Given the description of an element on the screen output the (x, y) to click on. 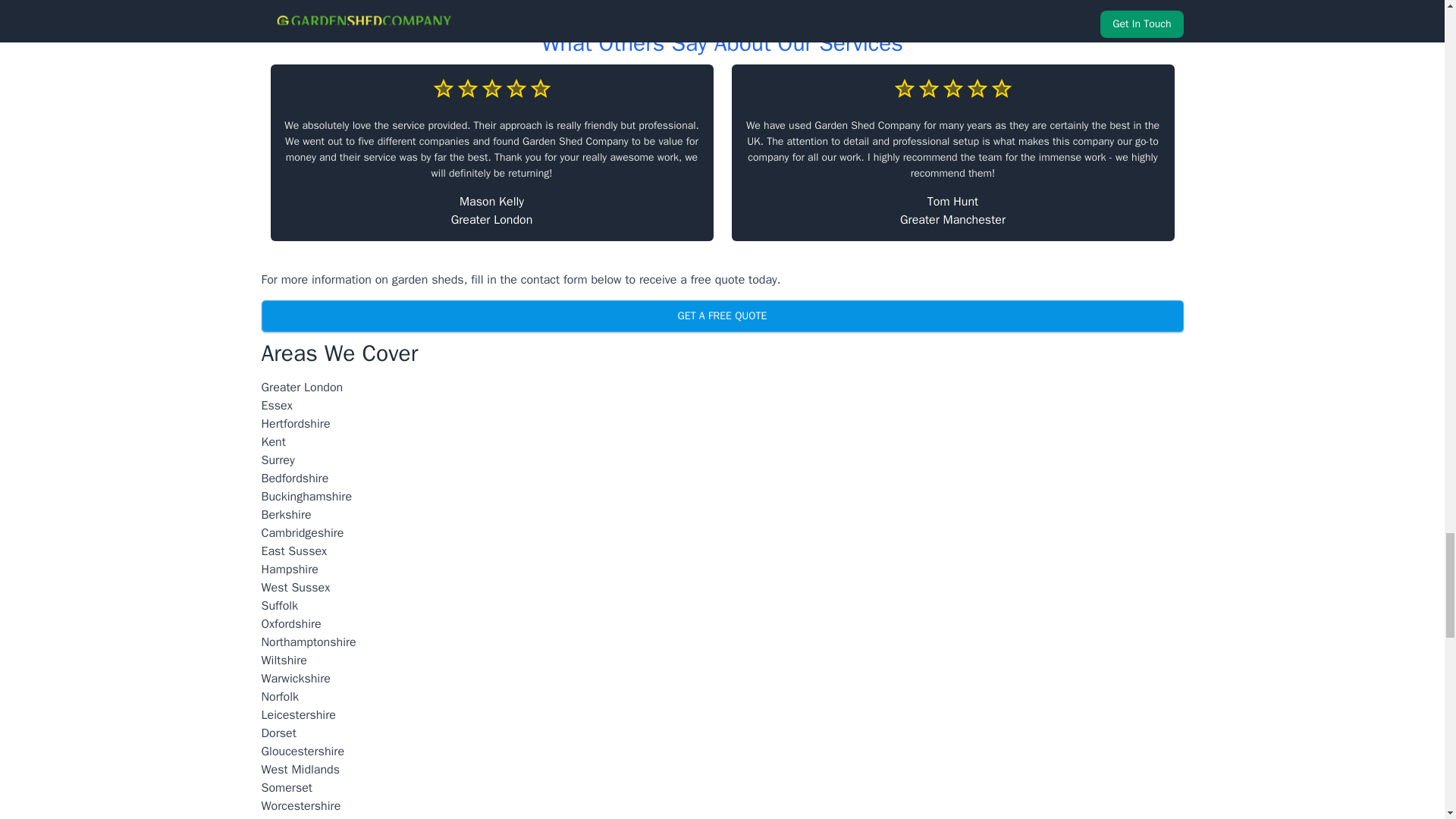
RECEIVE TOP ONLINE QUOTES HERE (721, 11)
GET A FREE QUOTE (721, 316)
